Given the description of an element on the screen output the (x, y) to click on. 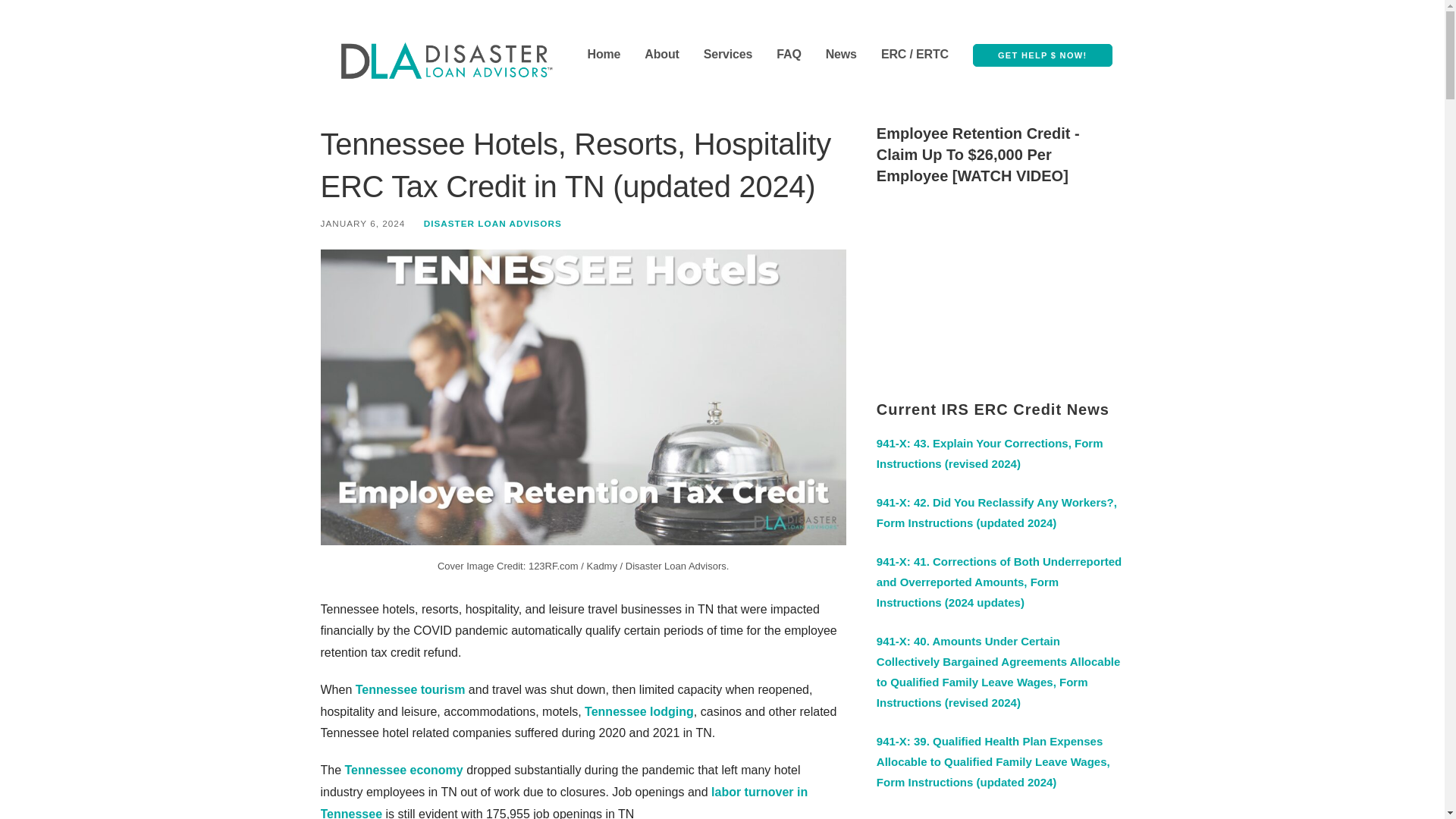
Tennessee economy (404, 769)
Services (727, 55)
Posts by Disaster Loan Advisors (492, 223)
labor turnover in Tennessee (564, 802)
Home (603, 55)
News (841, 55)
DISASTER LOAN ADVISORS (492, 223)
About (661, 55)
Tennessee tourism (410, 689)
Tennessee lodging (639, 711)
